Given the description of an element on the screen output the (x, y) to click on. 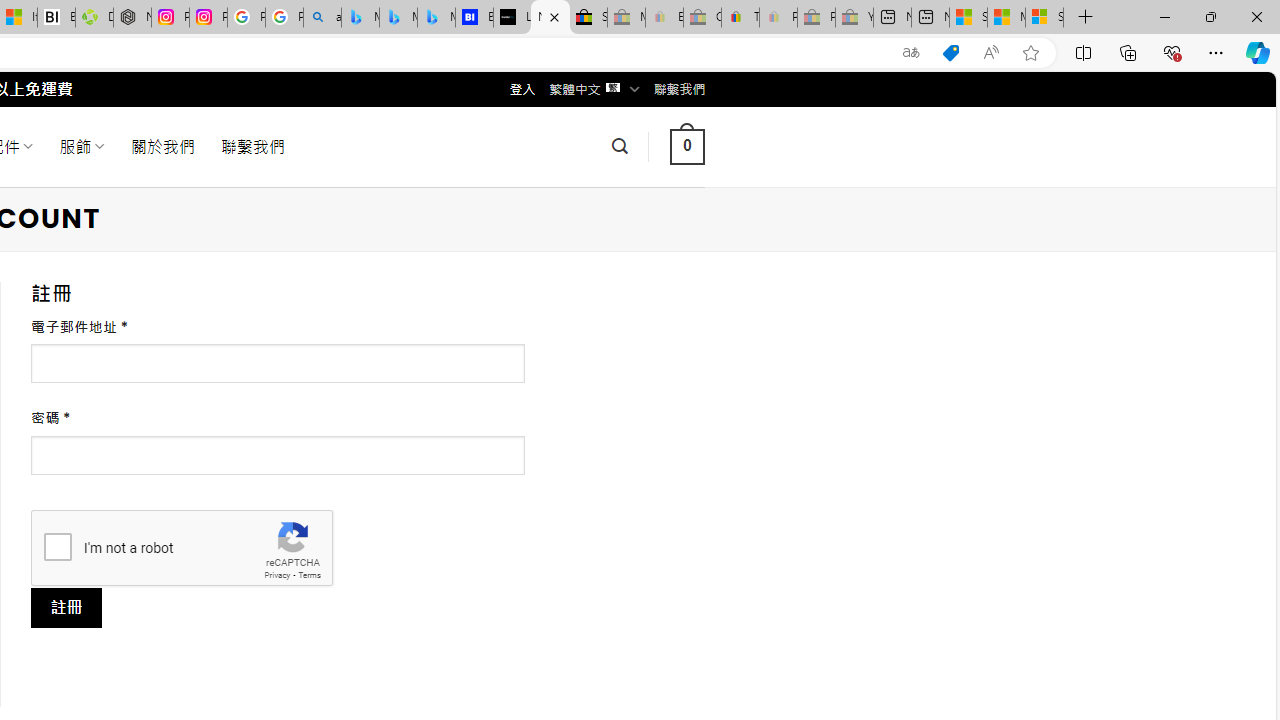
Nordace - My Account (550, 17)
  0   (687, 146)
Shanghai, China hourly forecast | Microsoft Weather (967, 17)
Press Room - eBay Inc. - Sleeping (815, 17)
